Given the description of an element on the screen output the (x, y) to click on. 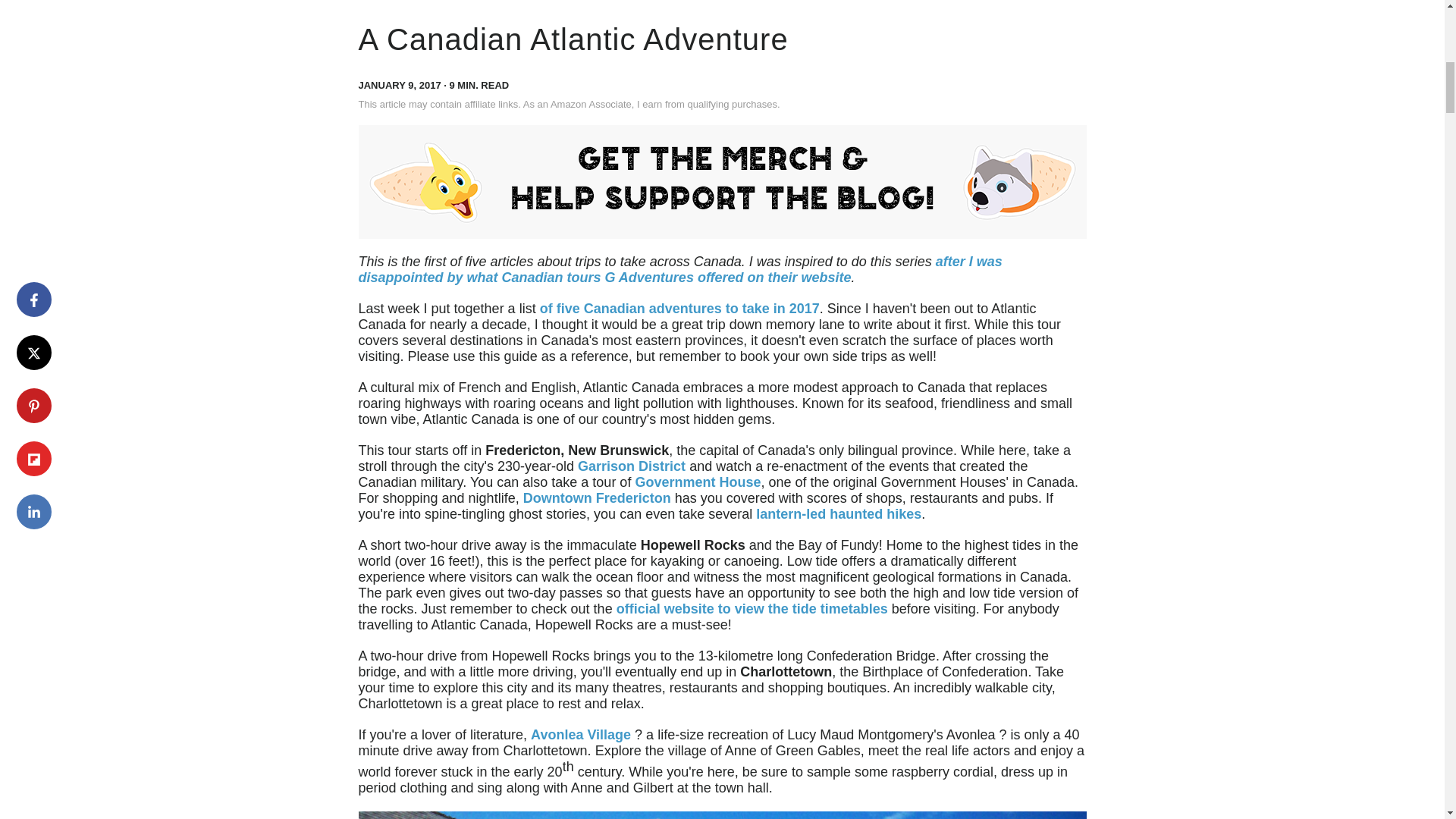
lantern-led haunted hikes (838, 513)
of five Canadian adventures to take in 2017 (679, 308)
Garrison District (631, 466)
Government House (697, 482)
Downtown Fredericton (598, 498)
official website to view the tide timetables (751, 608)
Avonlea Village (580, 734)
